Given the description of an element on the screen output the (x, y) to click on. 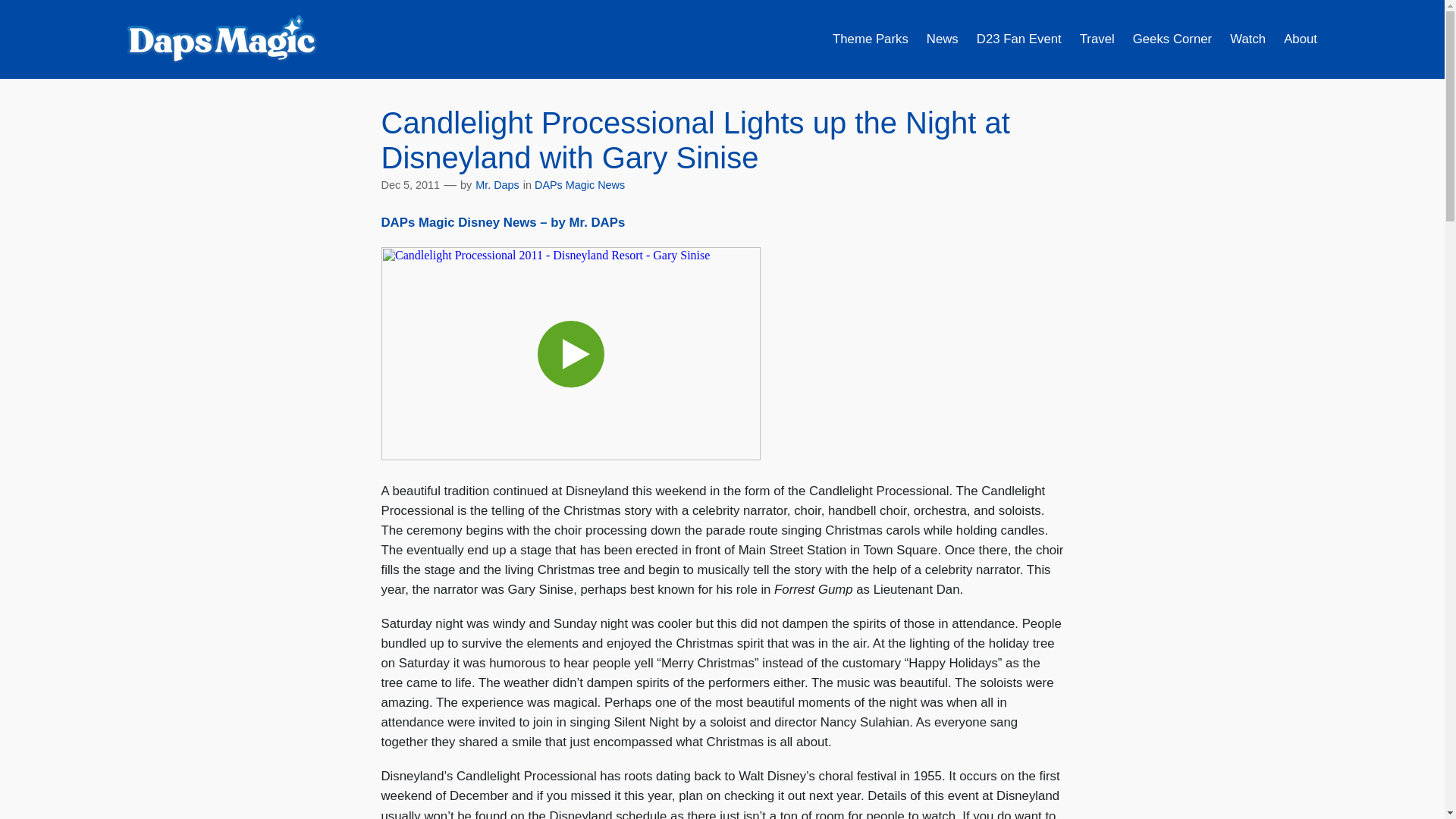
Mr. Daps (497, 184)
Travel (1097, 39)
News (942, 39)
DAPs Magic News (579, 184)
Watch (1247, 39)
About (1300, 39)
DAPs Magic Disney News (502, 222)
D23 Fan Event (1018, 39)
Theme Parks (870, 39)
